Given the description of an element on the screen output the (x, y) to click on. 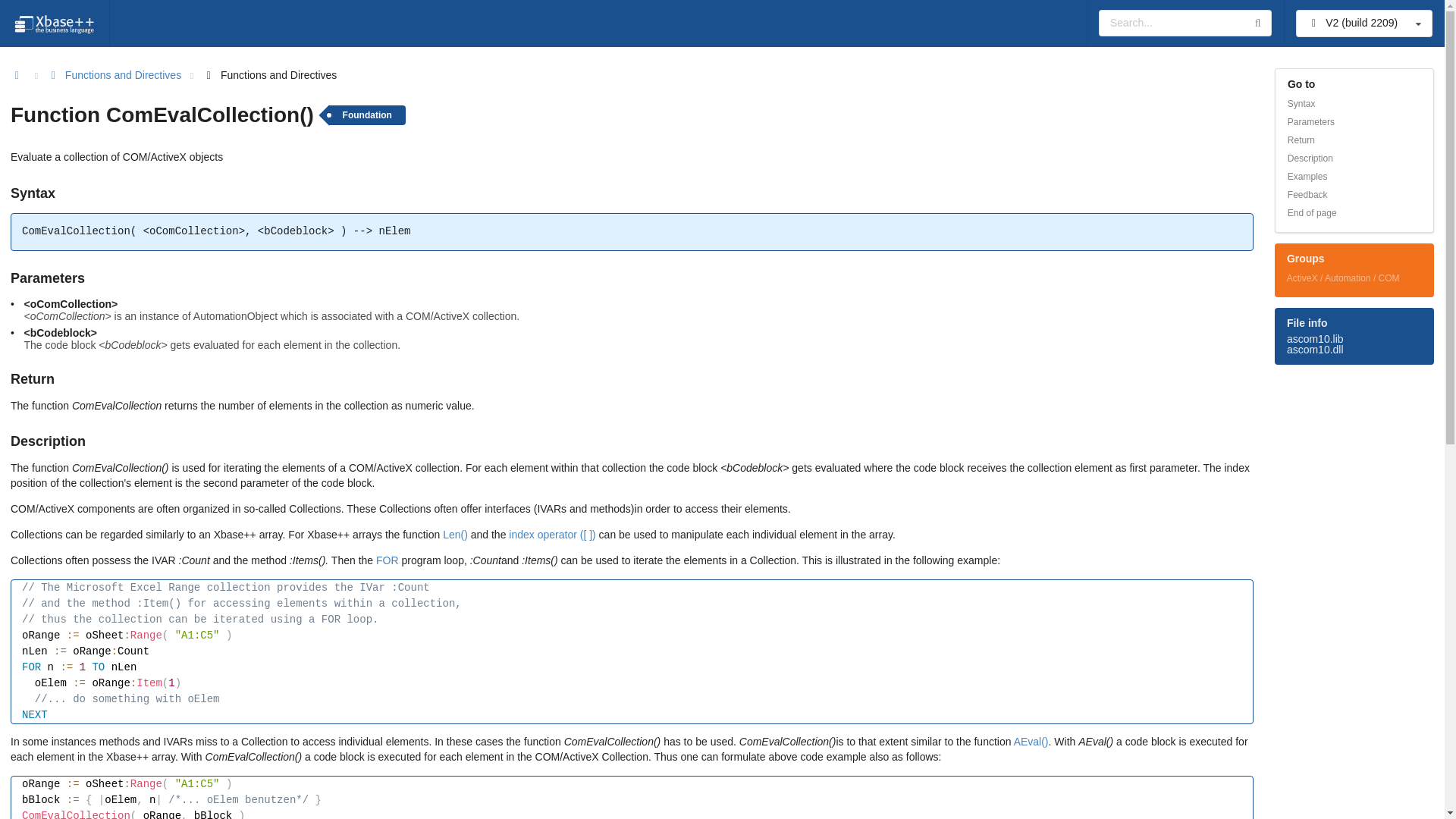
Syntax (1353, 104)
Parameters (1353, 122)
Return (1353, 140)
Foundation (367, 115)
Functions and Directives (113, 75)
FOR (386, 560)
